Given the description of an element on the screen output the (x, y) to click on. 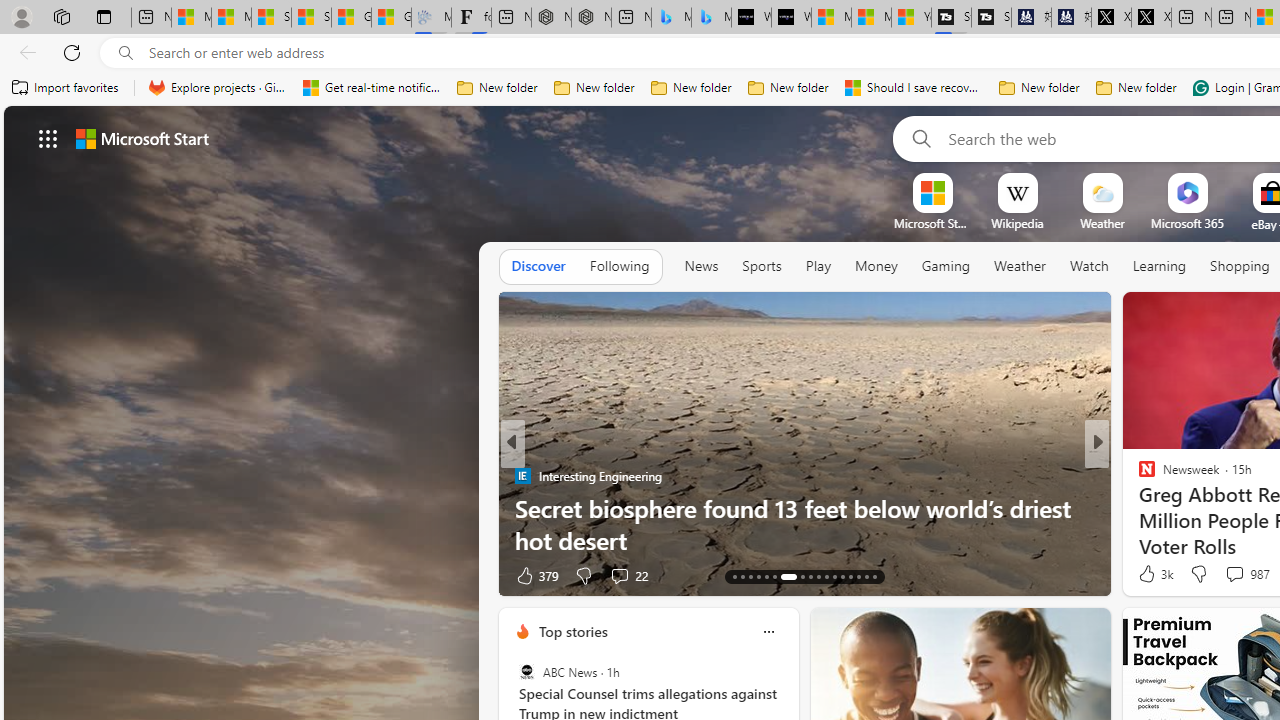
View comments 17 Comment (1234, 575)
AutomationID: tab-29 (874, 576)
AutomationID: tab-18 (774, 576)
Import favorites (65, 88)
View comments 52 Comment (1237, 574)
AutomationID: tab-27 (857, 576)
View comments 987 Comment (1234, 573)
